Given the description of an element on the screen output the (x, y) to click on. 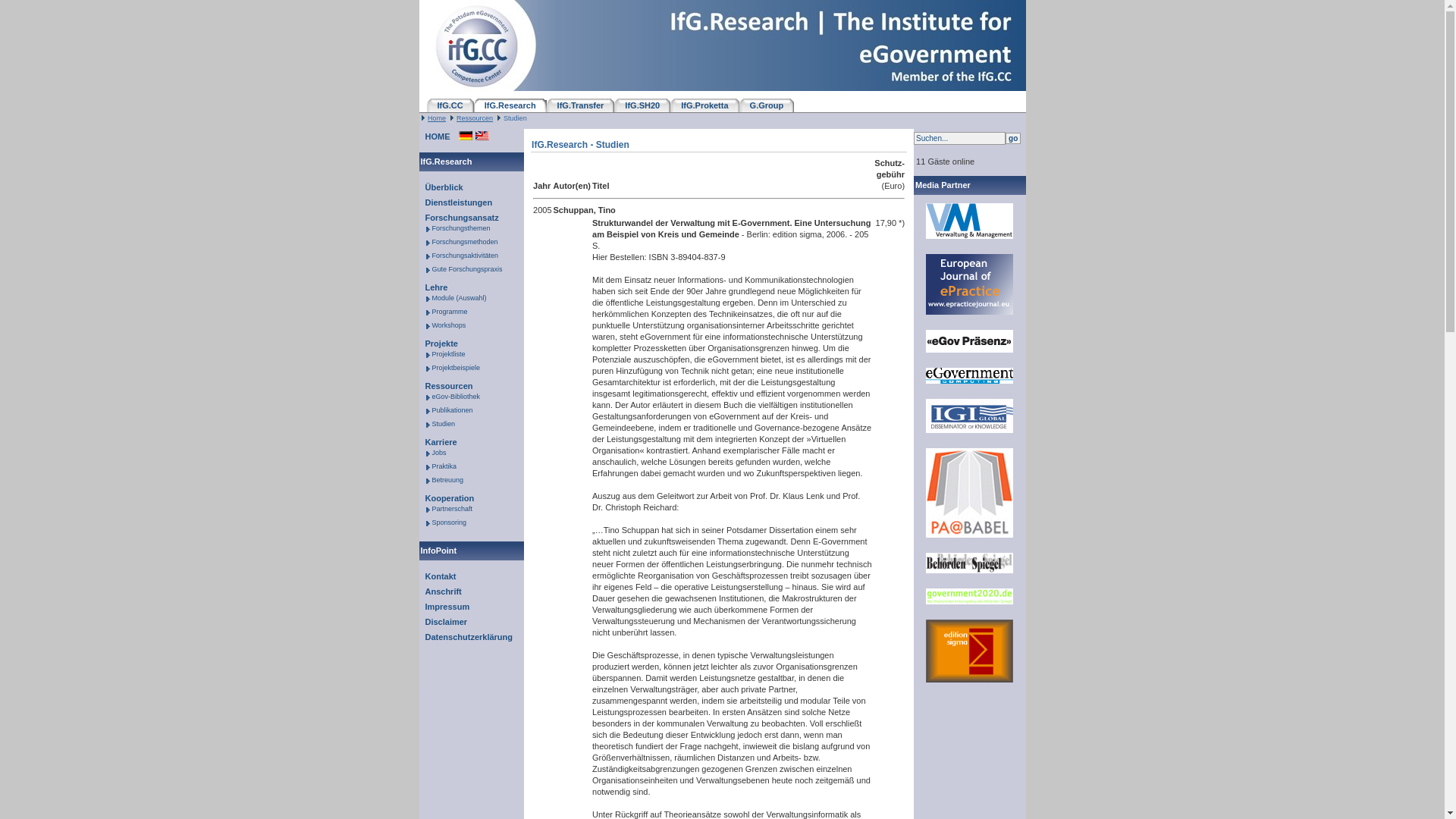
G.Group Element type: text (766, 105)
HOME Element type: text (433, 136)
Jobs Element type: text (437, 452)
Kontakt Element type: text (436, 575)
IfG.Proketta Element type: text (704, 105)
Projektliste Element type: text (446, 353)
Praktika Element type: text (442, 466)
Ressourcen Element type: text (445, 385)
Dienstleistungen Element type: text (455, 202)
go Element type: text (1012, 138)
Forschungsmethoden Element type: text (463, 241)
English (United Kingdom) Element type: hover (481, 135)
Ressourcen Element type: text (474, 118)
Kooperation Element type: text (445, 497)
Impressum Element type: text (443, 606)
Publikationen Element type: text (450, 410)
IfG.SH20 Element type: text (642, 105)
Lehre Element type: text (432, 286)
Workshops Element type: text (447, 325)
Disclaimer Element type: text (442, 621)
Programme Element type: text (448, 311)
IfG.Research Element type: text (509, 105)
Sponsoring Element type: text (447, 522)
Projekte Element type: text (437, 343)
Partnerschaft Element type: text (450, 508)
Forschungsansatz Element type: text (458, 217)
Deutsch (DE-CH-AT) Element type: hover (465, 135)
IfG.CC Element type: text (449, 105)
Studien Element type: text (442, 423)
IfG.Transfer Element type: text (580, 105)
Home Element type: text (436, 118)
Karriere Element type: text (437, 441)
Module (Auswahl) Element type: text (457, 297)
Betreuung Element type: text (446, 479)
Gute Forschungspraxis Element type: text (465, 269)
Projektbeispiele Element type: text (454, 367)
Forschungsthemen Element type: text (459, 228)
eGov-Bibliothek Element type: text (454, 396)
Anschrift Element type: text (439, 591)
